Given the description of an element on the screen output the (x, y) to click on. 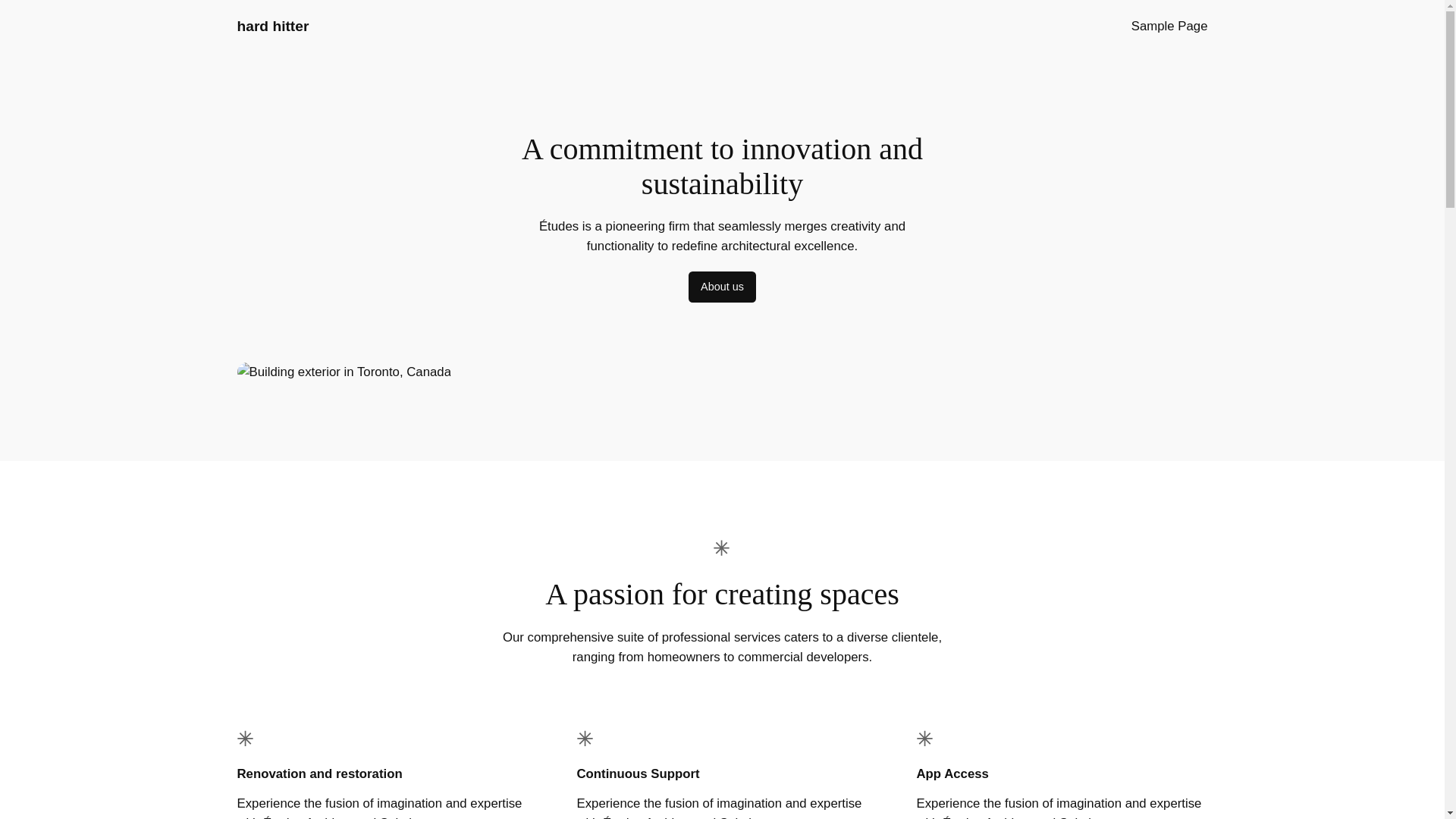
About us (721, 287)
hard hitter (271, 26)
Sample Page (1169, 26)
